Given the description of an element on the screen output the (x, y) to click on. 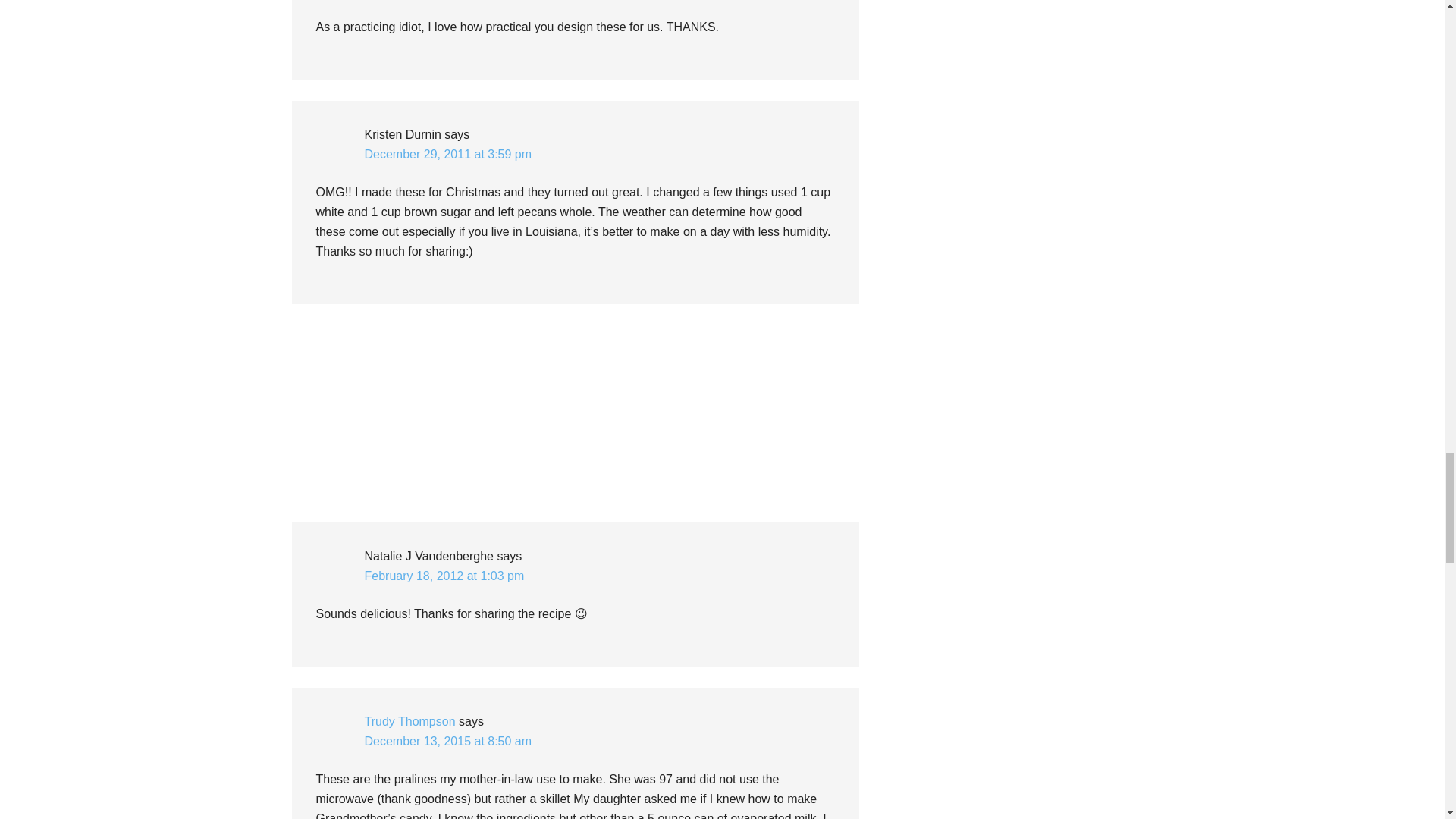
December 13, 2015 at 8:50 am (447, 740)
February 18, 2012 at 1:03 pm (444, 575)
Trudy Thompson (409, 721)
December 29, 2011 at 3:59 pm (447, 154)
